Given the description of an element on the screen output the (x, y) to click on. 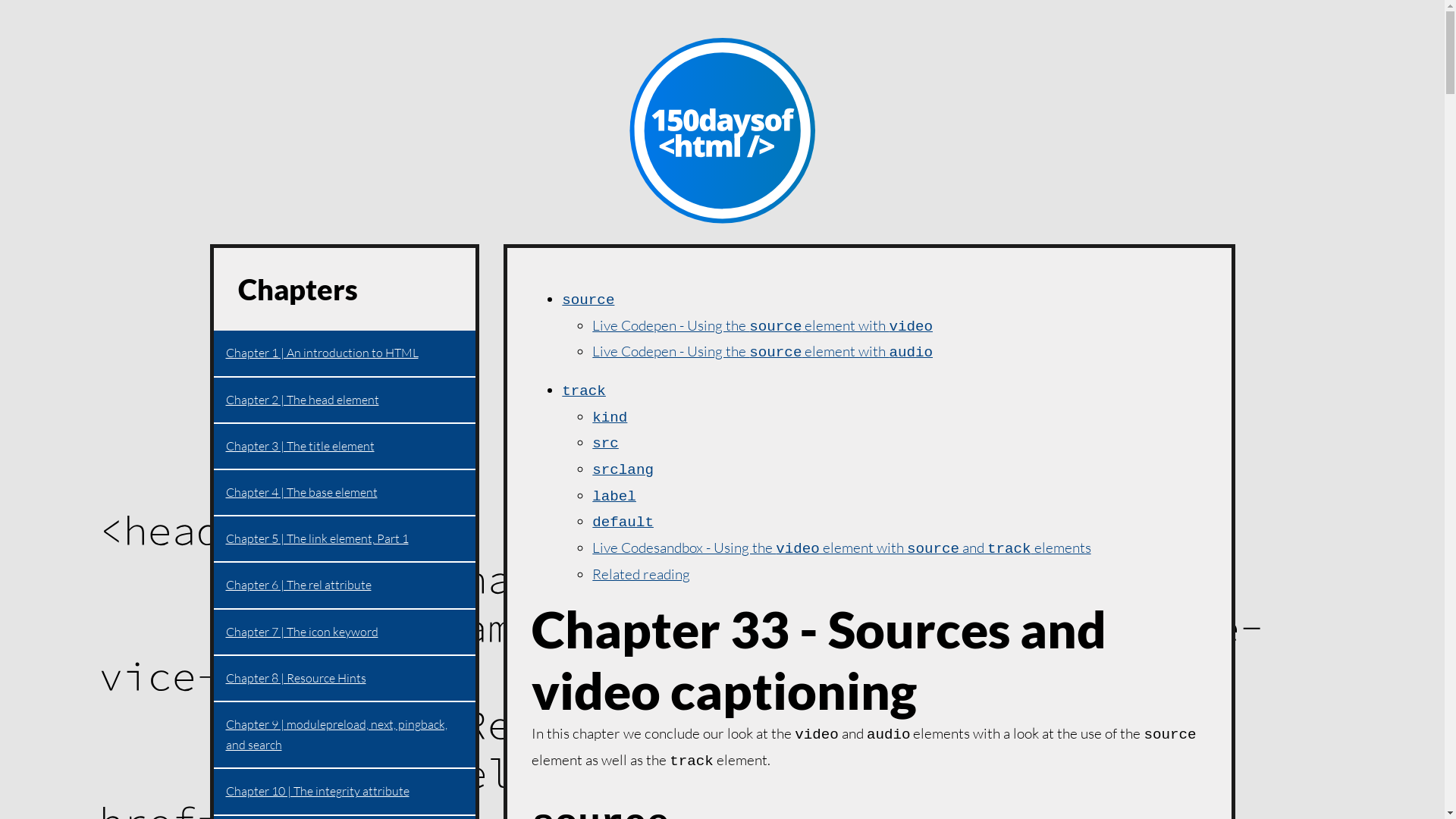
Chapter 1 | An introduction to HTML Element type: text (344, 353)
default Element type: text (622, 520)
Chapter 7 | The icon keyword Element type: text (344, 632)
Live Codepen - Using the source element with audio Element type: text (762, 350)
Live Codepen - Using the source element with video Element type: text (762, 324)
label Element type: text (614, 494)
Chapter 8 | Resource Hints Element type: text (344, 678)
Chapter 3 | The title element Element type: text (344, 446)
src Element type: text (605, 441)
Chapter 5 | The link element, Part 1 Element type: text (344, 539)
kind Element type: text (609, 415)
150 Days of HTML Element type: text (721, 130)
track Element type: text (583, 389)
Chapter 6 | The rel attribute Element type: text (344, 585)
Related reading Element type: text (641, 573)
srclang Element type: text (622, 468)
Chapter 9 | modulepreload, next, pingback, and search Element type: text (344, 735)
source Element type: text (587, 298)
Chapter 4 | The base element Element type: text (344, 493)
Chapter 10 | The integrity attribute Element type: text (344, 791)
Chapter 2 | The head element Element type: text (344, 400)
